Given the description of an element on the screen output the (x, y) to click on. 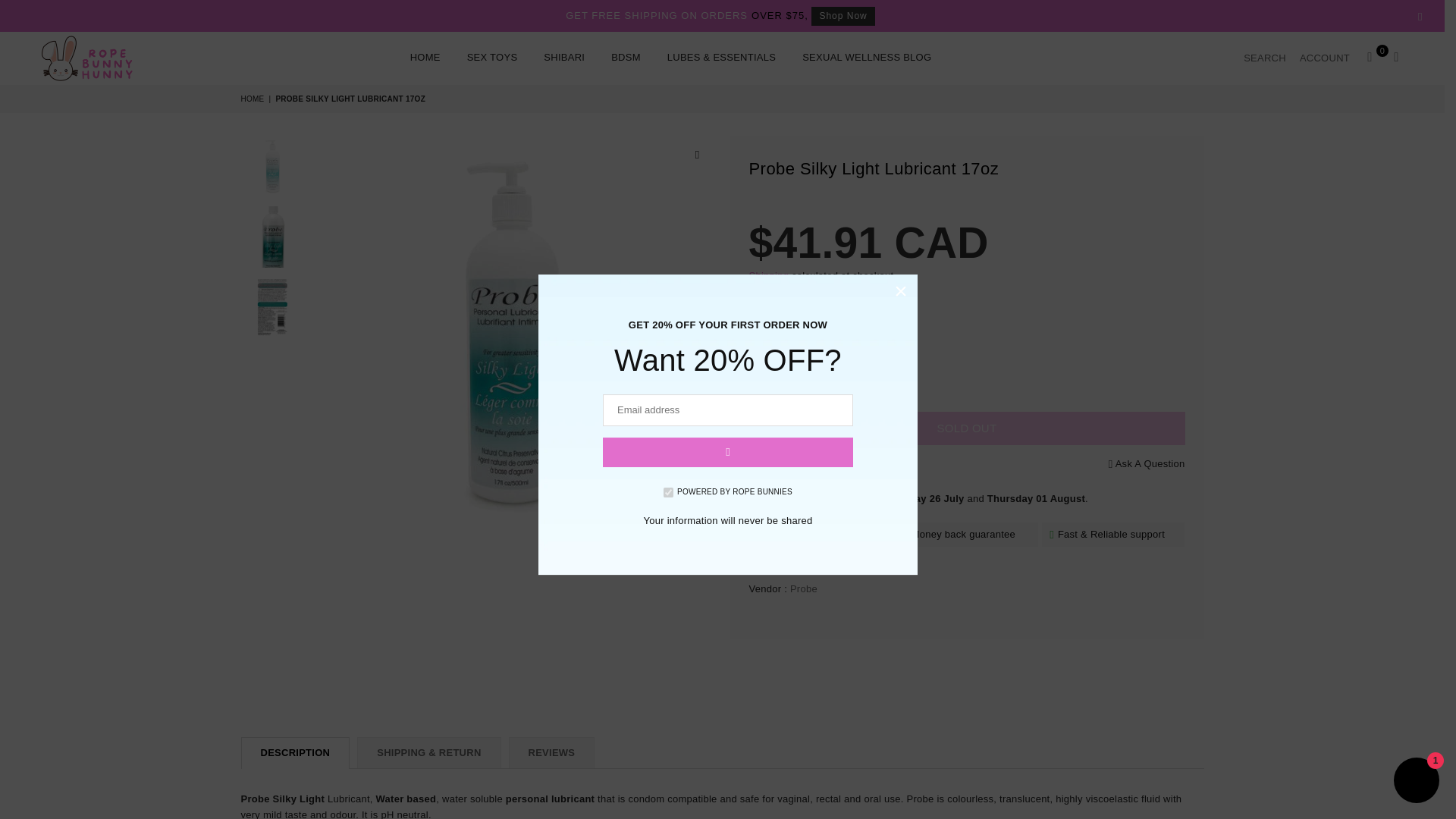
SEX TOYS (492, 58)
SEXUAL WELLNESS BLOG (866, 58)
Back to the home page (253, 99)
ROPE BUNNY HUNNY (100, 58)
Pin on Pinterest (834, 464)
Probe (803, 588)
Share on Linkedin (854, 464)
on (667, 492)
SEARCH (1264, 57)
BDSM (625, 58)
SUBSCRIBE (727, 451)
SHIBARI (563, 58)
CART (1369, 57)
Tweet on Twitter (815, 464)
Share by Email (873, 464)
